Given the description of an element on the screen output the (x, y) to click on. 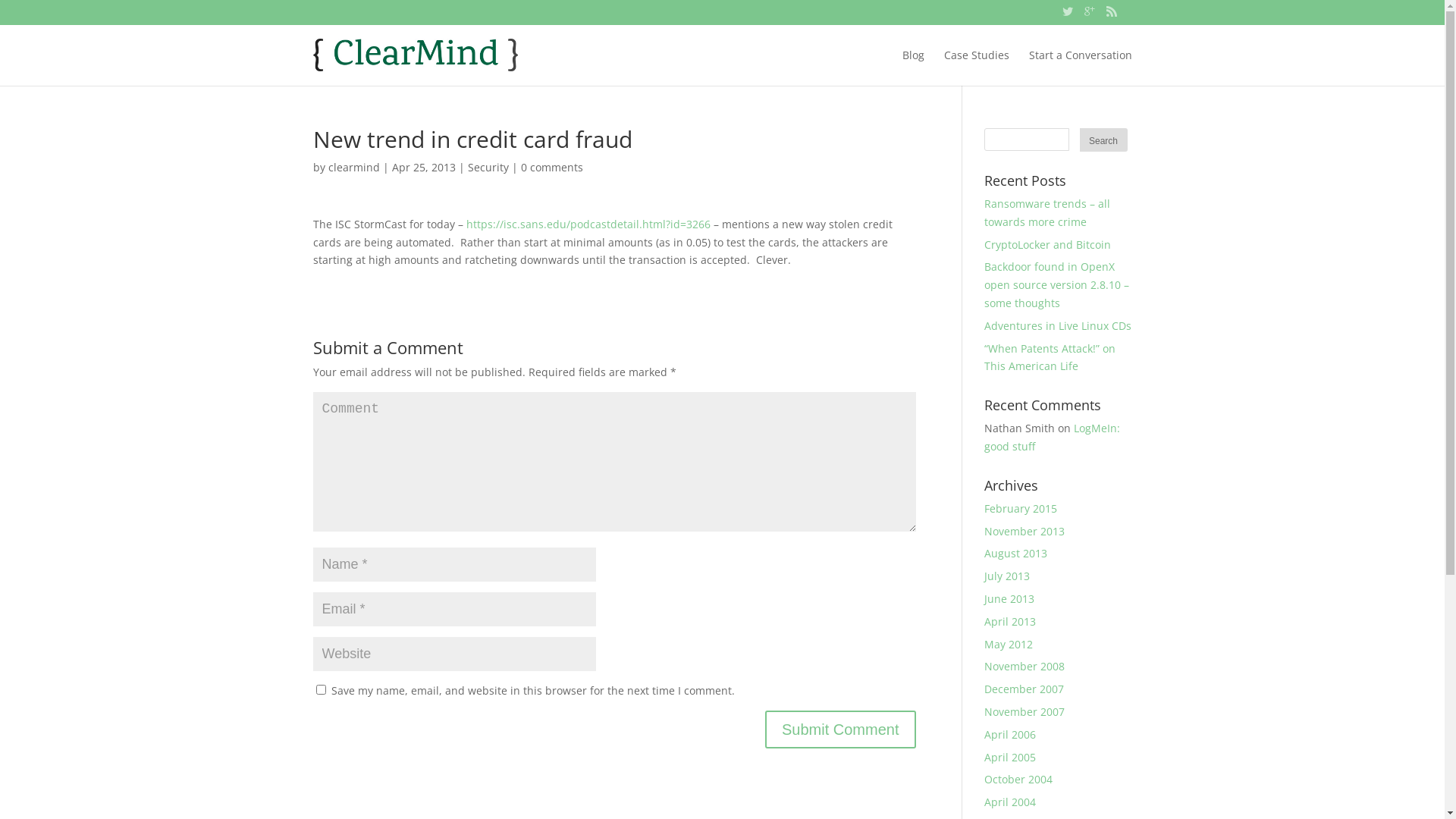
June 2013 Element type: text (1009, 598)
Search Element type: text (1103, 139)
clearmind Element type: text (353, 167)
Case Studies Element type: text (975, 65)
Submit Comment Element type: text (840, 729)
Start a Conversation Element type: text (1079, 65)
CryptoLocker and Bitcoin Element type: text (1047, 244)
November 2013 Element type: text (1024, 531)
December 2007 Element type: text (1023, 688)
July 2013 Element type: text (1006, 575)
August 2013 Element type: text (1015, 553)
February 2015 Element type: text (1020, 508)
November 2008 Element type: text (1024, 665)
April 2013 Element type: text (1009, 621)
May 2012 Element type: text (1008, 644)
LogMeIn: good stuff Element type: text (1052, 436)
April 2004 Element type: text (1009, 801)
Adventures in Live Linux CDs Element type: text (1057, 325)
October 2004 Element type: text (1018, 778)
Blog Element type: text (913, 65)
https://isc.sans.edu/podcastdetail.html?id=3266 Element type: text (587, 223)
0 comments Element type: text (551, 167)
November 2007 Element type: text (1024, 711)
April 2005 Element type: text (1009, 756)
April 2006 Element type: text (1009, 734)
Security Element type: text (487, 167)
